Given the description of an element on the screen output the (x, y) to click on. 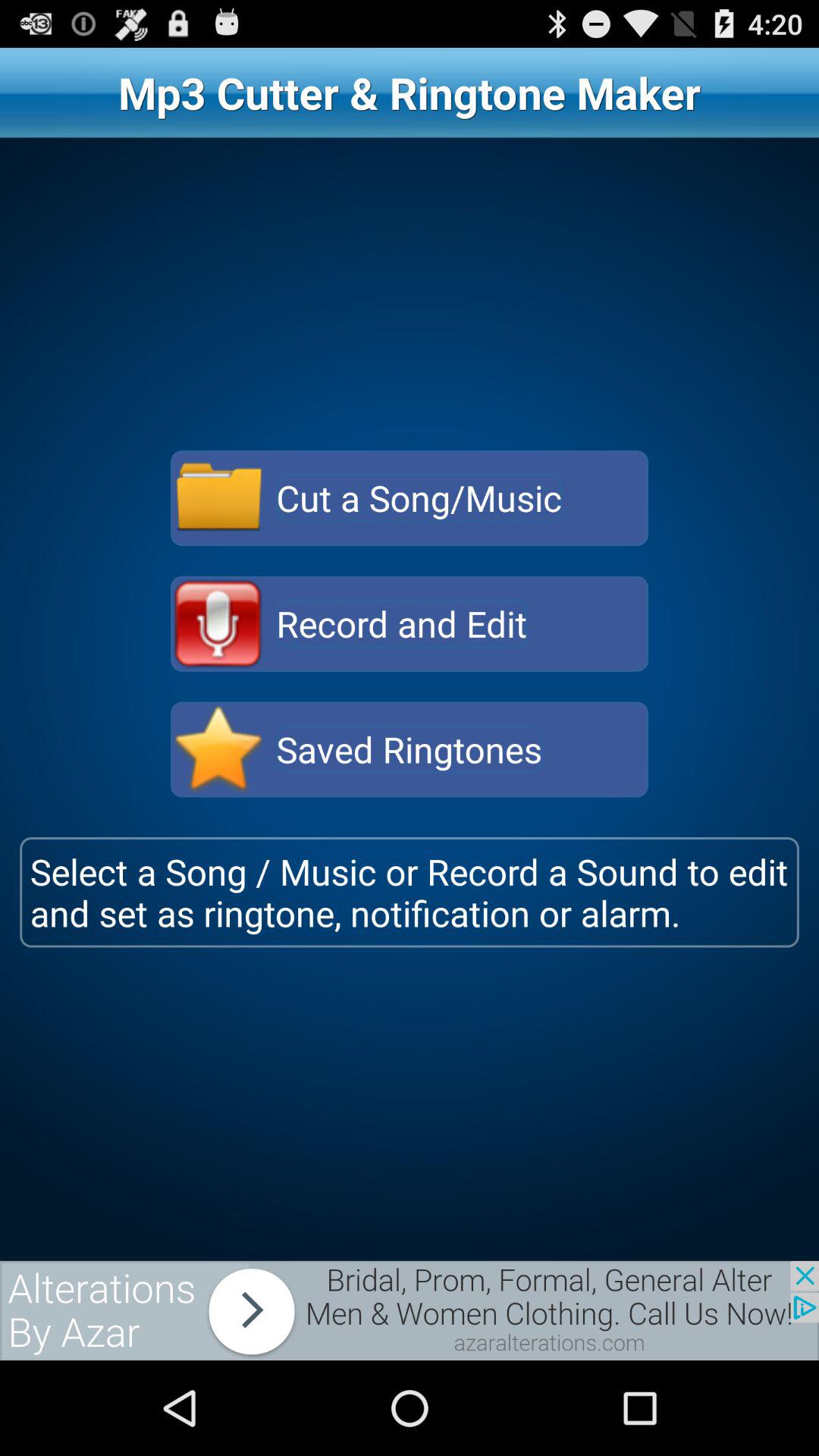
button image (218, 623)
